Given the description of an element on the screen output the (x, y) to click on. 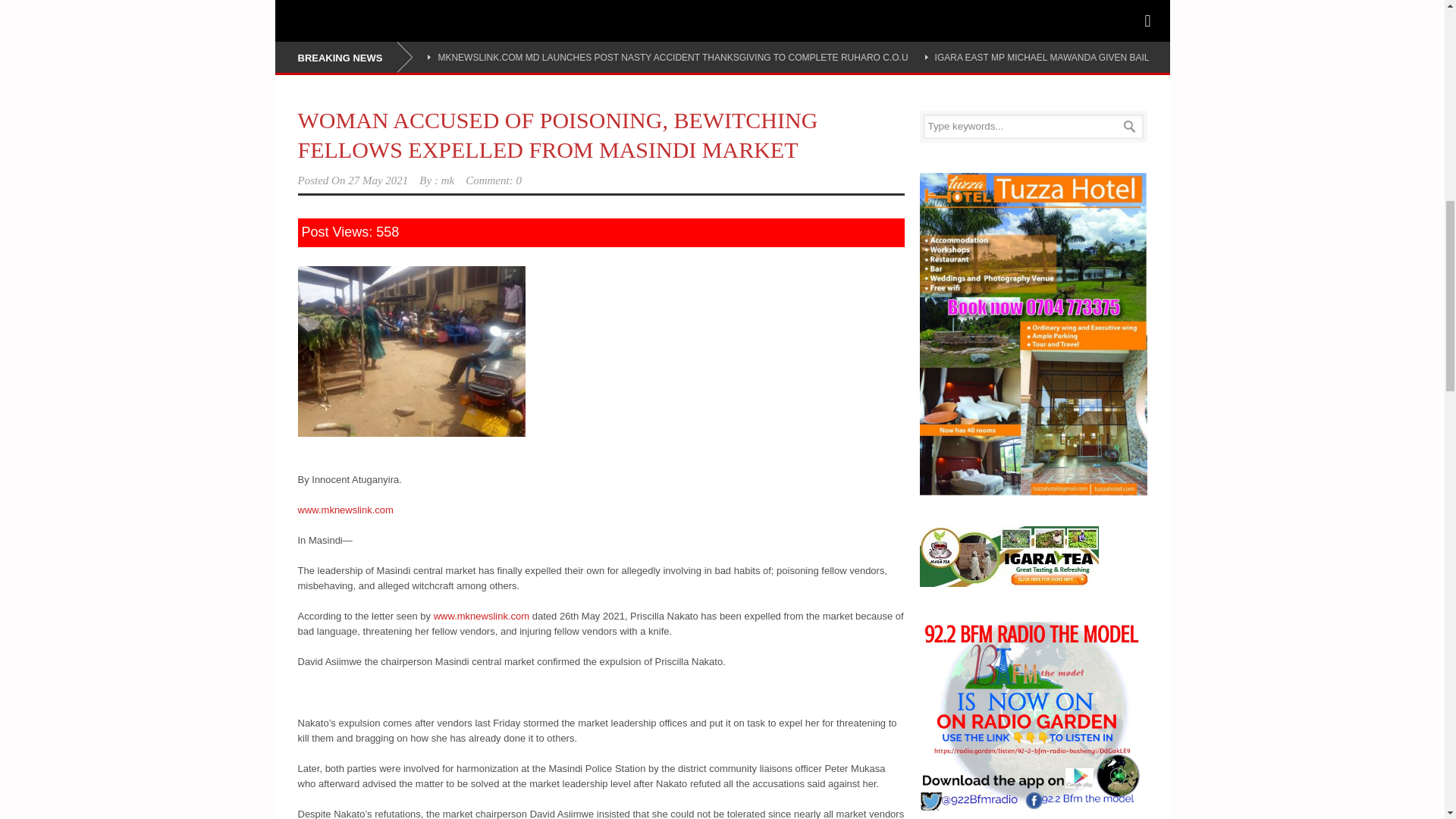
Posts by mk (447, 180)
Comment: 0 (493, 180)
IGARA EAST MP MICHAEL MAWANDA GIVEN BAIL (1042, 57)
27 May 2021 (377, 180)
www.mknewslink.com (481, 615)
www.mknewslink.com (345, 509)
mk (447, 180)
Type keywords... (1032, 126)
